Given the description of an element on the screen output the (x, y) to click on. 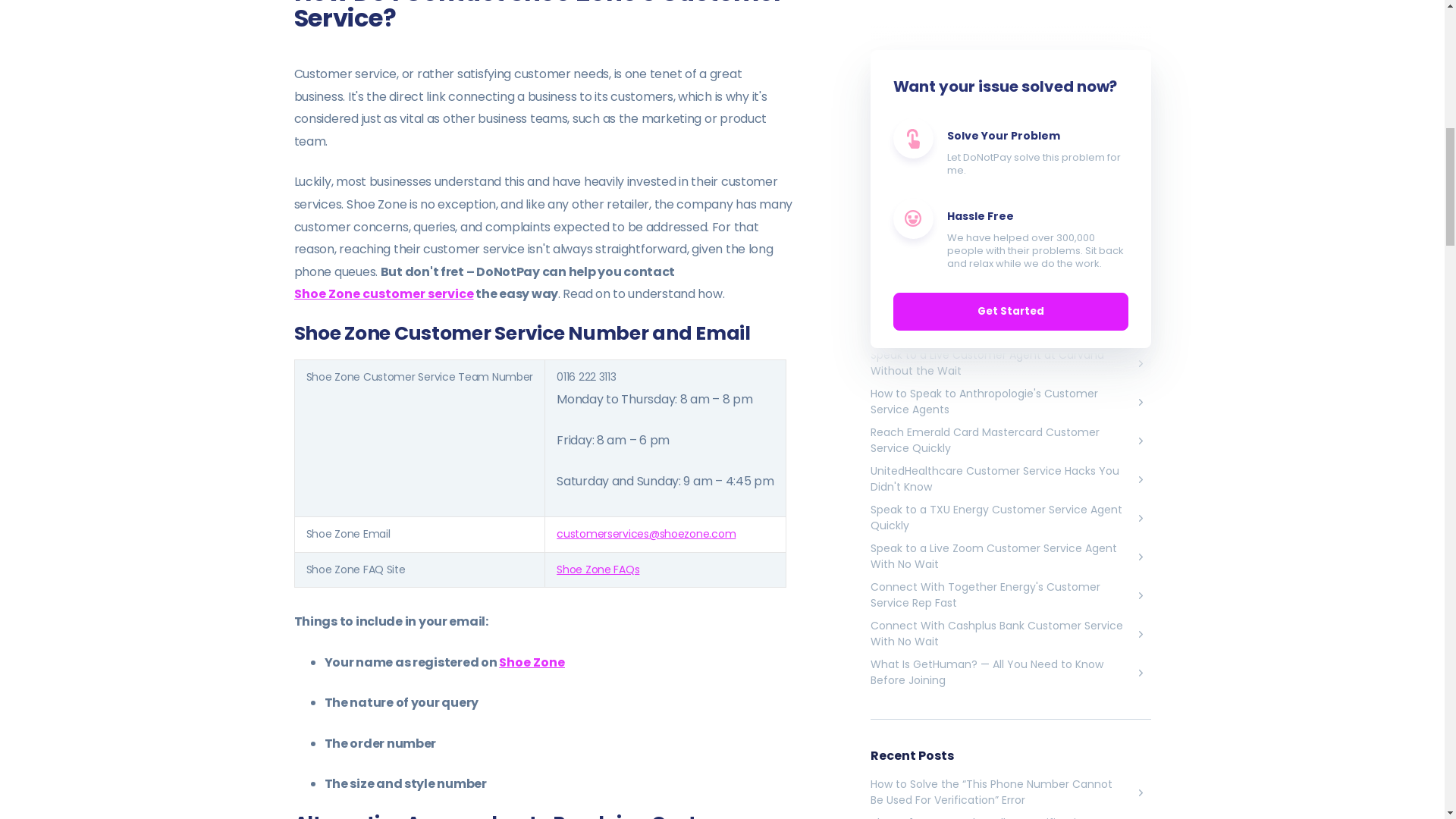
Shoe Zone FAQs (597, 569)
Shoe Zone customer service (384, 293)
Shoe Zone (531, 661)
